Given the description of an element on the screen output the (x, y) to click on. 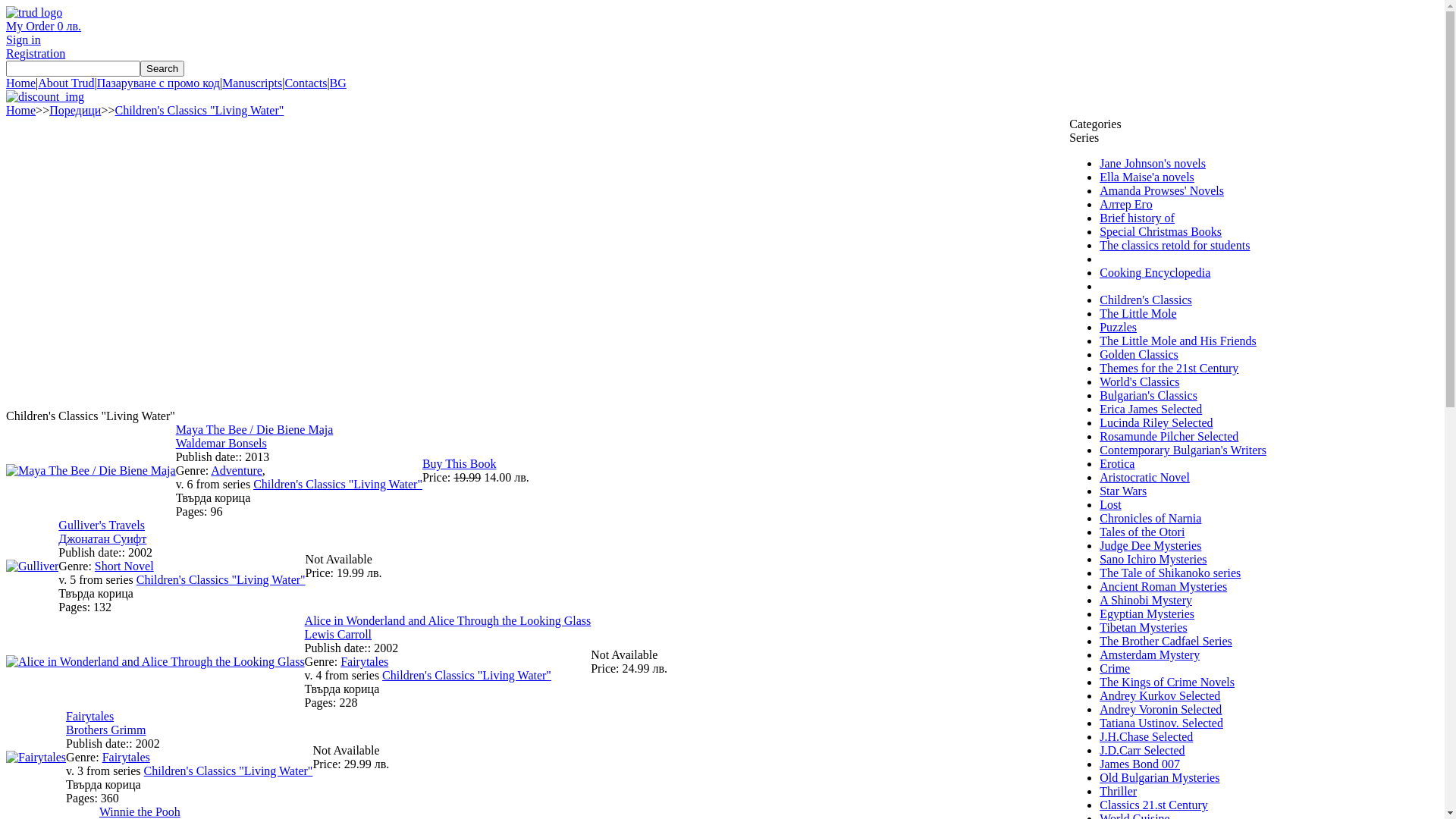
Rosamunde Pilcher Selected Element type: text (1168, 435)
Jane Johnson's novels Element type: text (1152, 162)
Tibetan Mysteries Element type: text (1142, 627)
The Little Mole and His Friends Element type: text (1177, 340)
Contacts Element type: text (305, 82)
Gulliver Element type: hover (32, 565)
Andrey Kurkov Selected Element type: text (1159, 695)
Lost Element type: text (1109, 504)
Star Wars Element type: text (1122, 490)
Children's Classics "Living Water" Element type: text (220, 579)
Contemporary Bulgarian's Writers Element type: text (1182, 449)
Tales of the Otori Element type: text (1141, 531)
Short Novel Element type: text (123, 565)
Home Element type: text (20, 109)
Themes for the 21st Century Element type: text (1168, 367)
Amsterdam Mystery Element type: text (1149, 654)
Lewis Carroll Element type: text (337, 633)
The Little Mole Element type: text (1137, 313)
Registration Element type: text (35, 53)
A Shinobi Mystery Element type: text (1145, 599)
Special Christmas Books Element type: text (1160, 231)
Alice in Wonderland and Alice Through the Looking Glass Element type: text (447, 620)
J.H.Chase Selected Element type: text (1145, 736)
Waldemar Bonsels Element type: text (220, 442)
Erica James Selected Element type: text (1150, 408)
Children's Classics "Living Water" Element type: text (198, 109)
Thriller Element type: text (1117, 790)
The Brother Cadfael Series Element type: text (1165, 640)
Winnie the Pooh Element type: text (139, 811)
Trud Element type: hover (34, 12)
Cooking Encyclopedia Element type: text (1154, 272)
Children's Classics Element type: text (1145, 299)
Ella Maise'a novels Element type: text (1146, 176)
Search Element type: text (162, 68)
Manuscripts Element type: text (252, 82)
Bulgarian's Classics Element type: text (1148, 395)
The Tale of Shikanoko series Element type: text (1169, 572)
About Trud Element type: text (65, 82)
Judge Dee Mysteries Element type: text (1150, 545)
Fairytales Element type: text (364, 661)
World's Classics Element type: text (1139, 381)
Classics 21.st Century Element type: text (1153, 804)
Crime Element type: text (1114, 668)
Maya The Bee / Die Biene Maja Element type: text (254, 429)
Sano Ichiro Mysteries Element type: text (1152, 558)
Lucinda Riley Selected Element type: text (1155, 422)
James Bond 007 Element type: text (1139, 763)
Aristocratic Novel Element type: text (1144, 476)
Brief history of Element type: text (1136, 217)
Tatiana Ustinov. Selected Element type: text (1161, 722)
Fairytales Element type: text (89, 715)
The classics retold for students Element type: text (1174, 244)
Andrey Voronin Selected Element type: text (1160, 708)
Adventure Element type: text (236, 470)
Brothers Grimm Element type: text (105, 729)
Maya The Bee / Die Biene Maja Element type: hover (90, 470)
Children's Classics "Living Water" Element type: text (466, 674)
Fairytales Element type: hover (35, 756)
Gulliver's Travels Element type: text (101, 524)
BG Element type: text (337, 82)
Amanda Prowses' Novels Element type: text (1161, 190)
Home Element type: text (20, 82)
Alice in Wonderland and Alice Through the Looking Glass Element type: hover (155, 661)
Egyptian Mysteries Element type: text (1146, 613)
Buy This Book Element type: text (459, 463)
Chronicles of Narnia Element type: text (1150, 517)
Fairytales Element type: text (126, 756)
Erotica Element type: text (1116, 463)
Children's Classics "Living Water" Element type: text (337, 483)
Sign in Element type: text (23, 39)
Children's Classics "Living Water" Element type: text (228, 770)
Puzzles Element type: text (1117, 326)
Old Bulgarian Mysteries Element type: text (1159, 777)
J.D.Carr Selected Element type: text (1141, 749)
Golden Classics Element type: text (1138, 354)
The Kings of Crime Novels Element type: text (1166, 681)
